Given the description of an element on the screen output the (x, y) to click on. 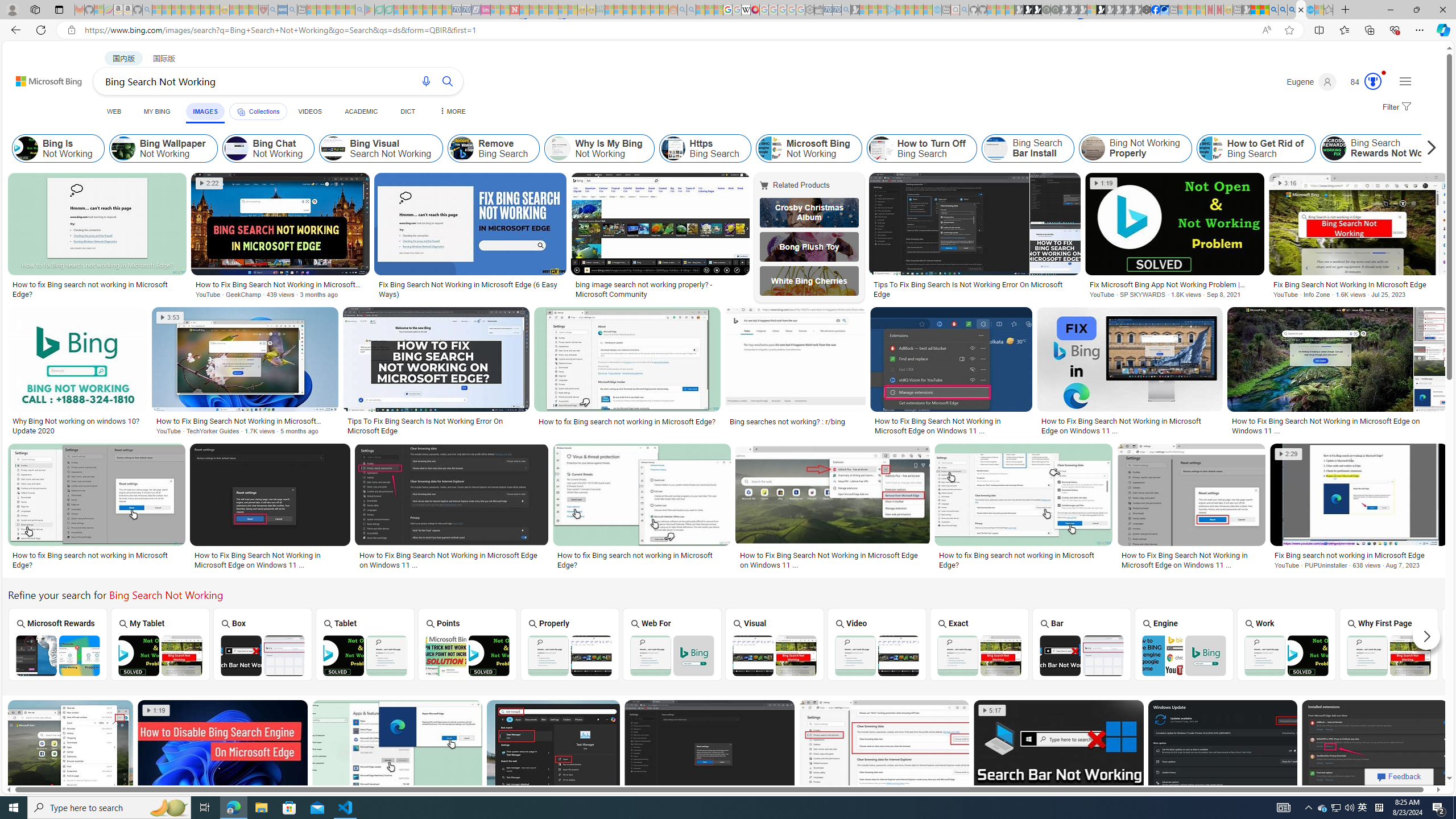
Microsoft Rewards 84 (1362, 81)
Bing Video Search Not Working (876, 655)
Bar (1081, 643)
Nordace - Cooler Bags (1146, 9)
Bing Search Not Working Properly (569, 655)
Bing Visual Search Not Working (774, 655)
Crosby Christmas Album (809, 212)
2009 Bing officially replaced Live Search on June 3 - Search (1283, 9)
Bing Search Not Working On My Tablet (160, 655)
